Given the description of an element on the screen output the (x, y) to click on. 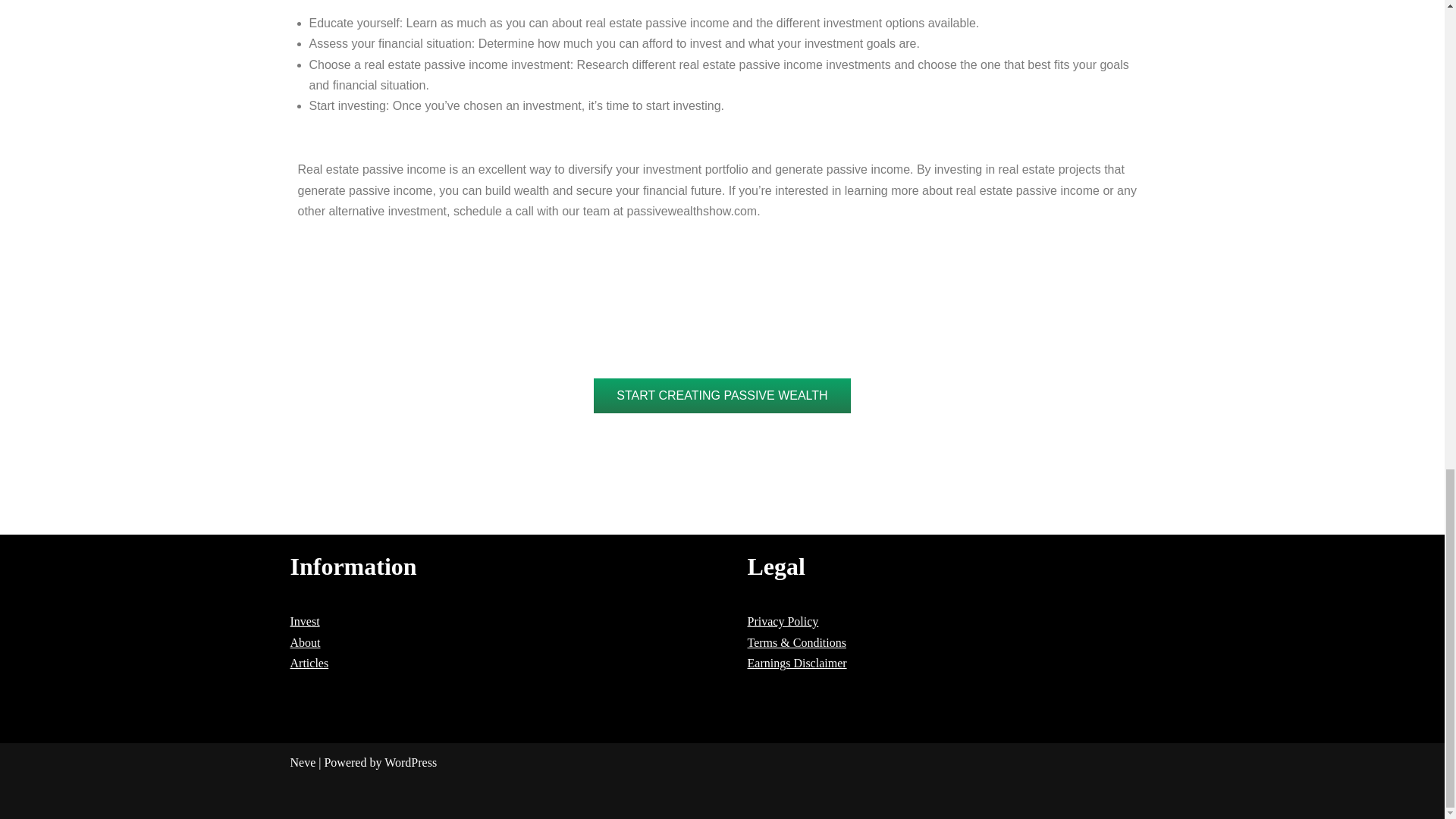
About (304, 642)
Articles (309, 662)
Invest (303, 621)
START CREATING PASSIVE WEALTH (722, 395)
WordPress (410, 762)
Earnings Disclaimer (797, 662)
Neve (302, 762)
Privacy Policy (783, 621)
